Given the description of an element on the screen output the (x, y) to click on. 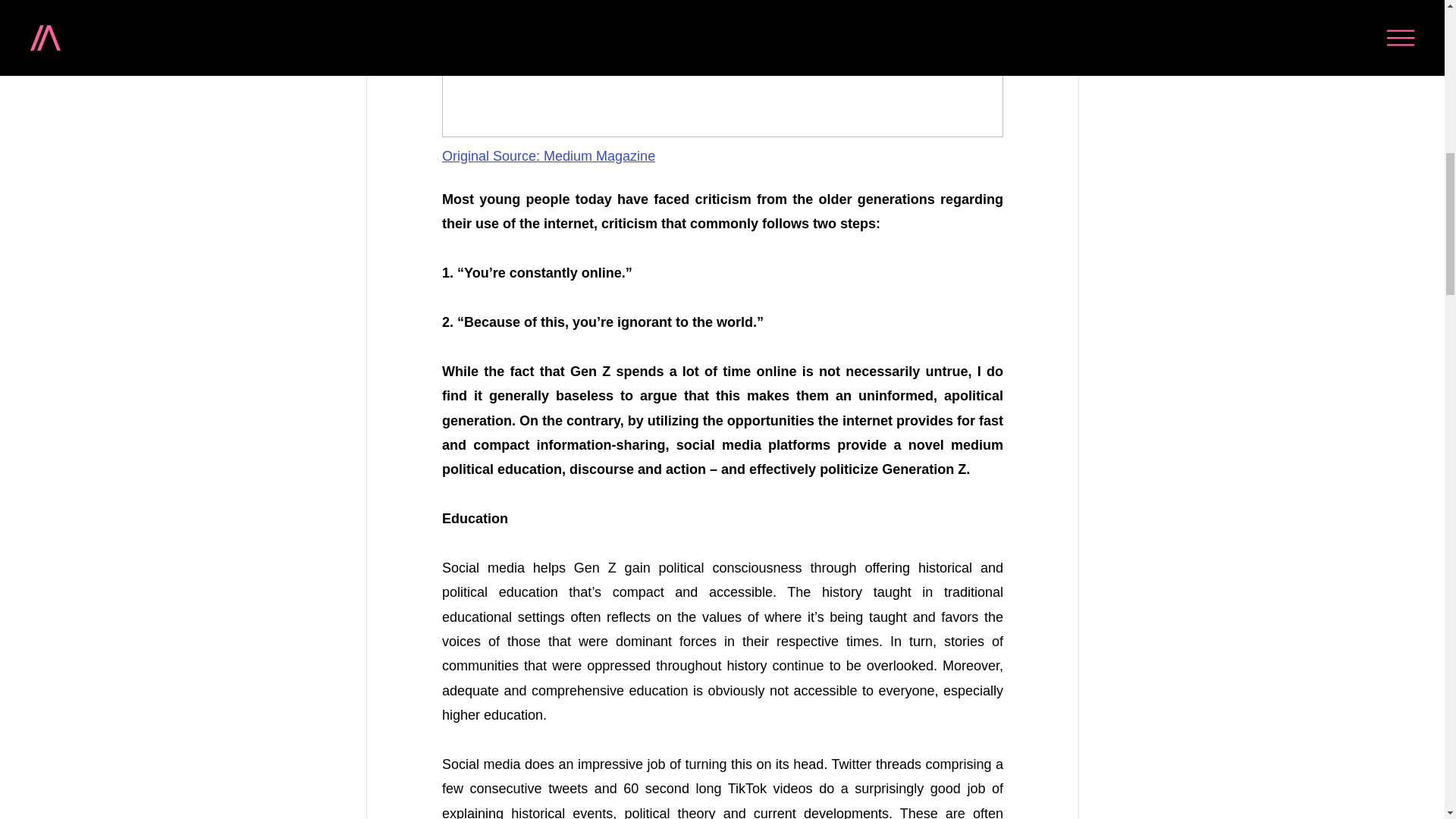
 Magazine (623, 155)
Original Source: Medium (516, 155)
